Given the description of an element on the screen output the (x, y) to click on. 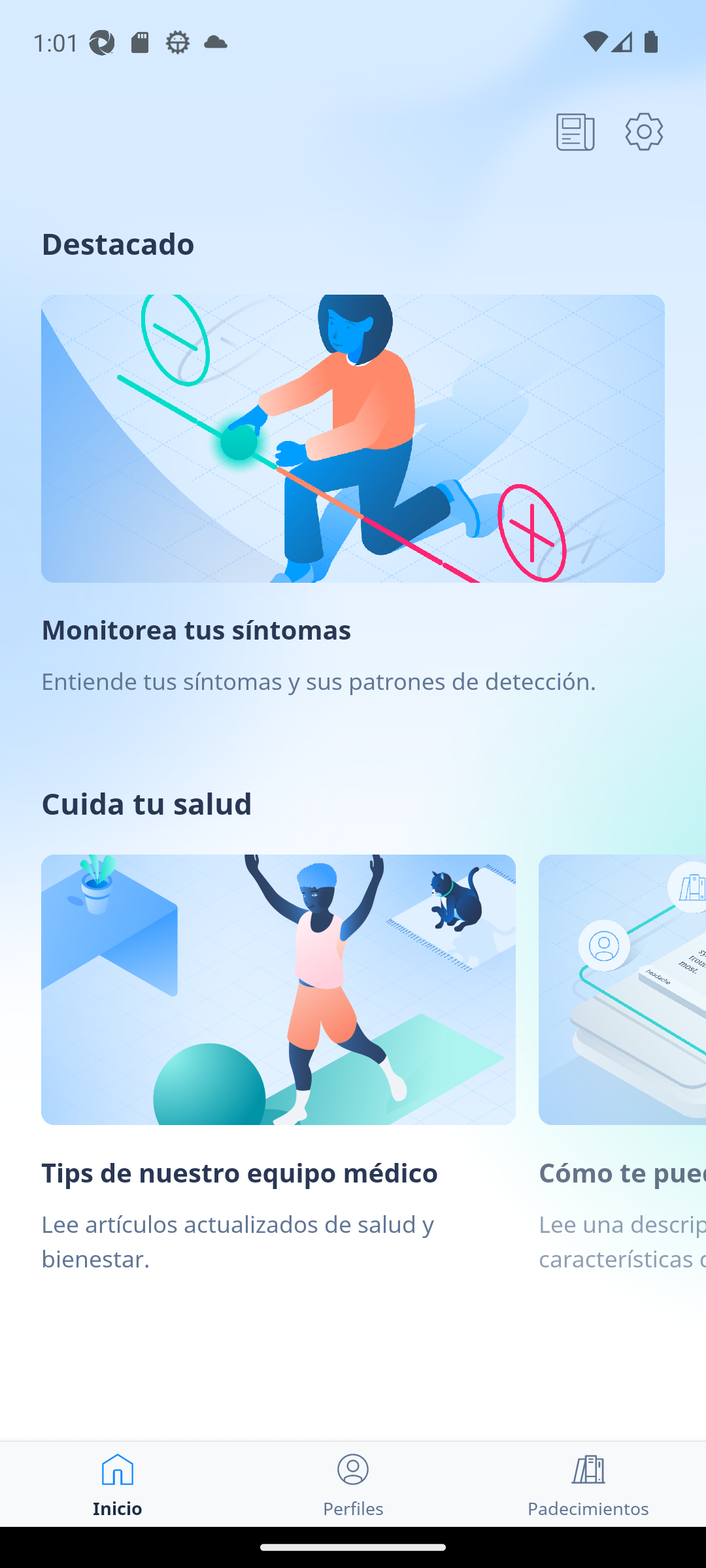
article icon , open articles (574, 131)
settings icon, open settings (644, 131)
Inicio (117, 1484)
Perfiles (352, 1484)
Padecimientos (588, 1484)
